Given the description of an element on the screen output the (x, y) to click on. 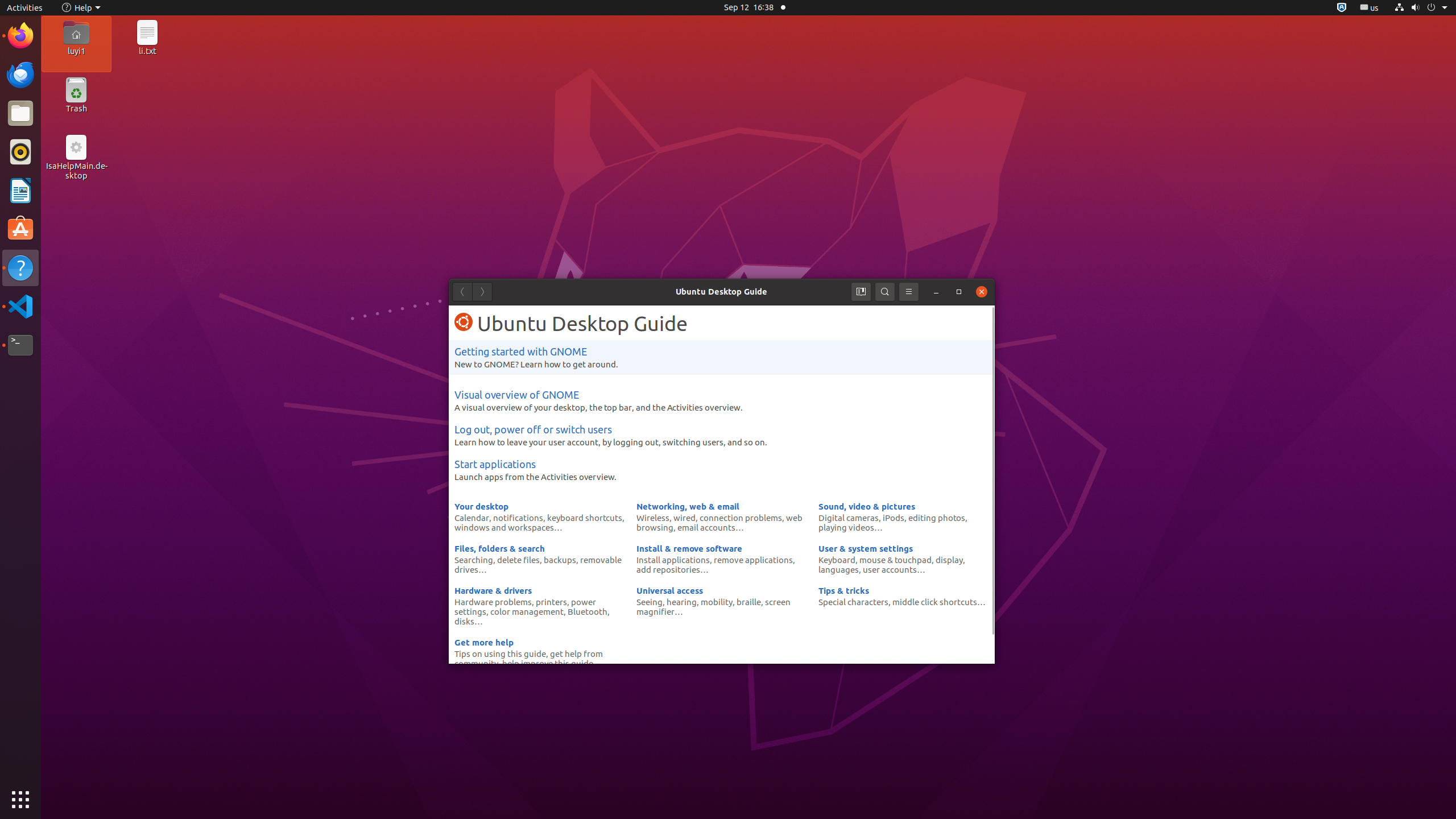
Wireless Element type: link (652, 517)
help improve this guide Element type: link (547, 663)
Digital cameras Element type: link (848, 517)
editing photos Element type: link (936, 517)
